Given the description of an element on the screen output the (x, y) to click on. 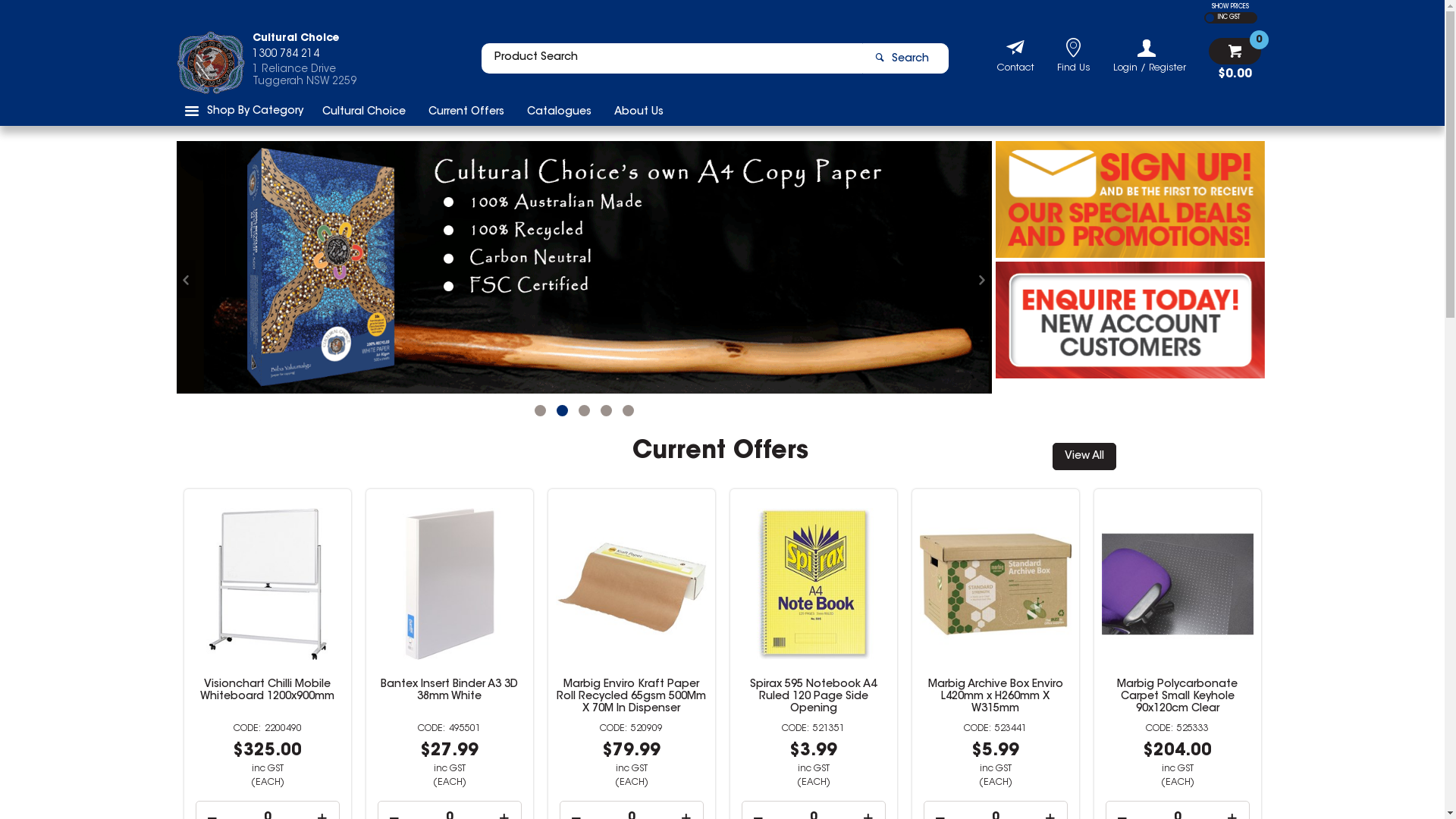
Find Us Element type: text (1073, 69)
View All Element type: text (1084, 456)
Visionchart Chilli Mobile Whiteboard 1200x900mm Element type: text (448, 690)
Search Element type: text (904, 58)
Spirax 595 Notebook A4 Ruled 120 Page Side Opening Element type: text (994, 696)
Login / Register Element type: text (1149, 55)
1300 784 214 Element type: text (303, 57)
Contact Element type: text (1014, 69)
About Us Element type: text (638, 110)
INC GST Element type: text (1226, 17)
EX GST Element type: text (1209, 17)
Marbig Archive Box Enviro L420mm x H260mm X W315mm Element type: text (1176, 696)
Current Offers Element type: text (466, 110)
Bantex Insert Binder A3 3D 38mm White Element type: text (630, 690)
Catalogues Element type: text (558, 110)
Cultural Choice Element type: text (363, 110)
$0.00
0 Element type: text (1234, 59)
